Given the description of an element on the screen output the (x, y) to click on. 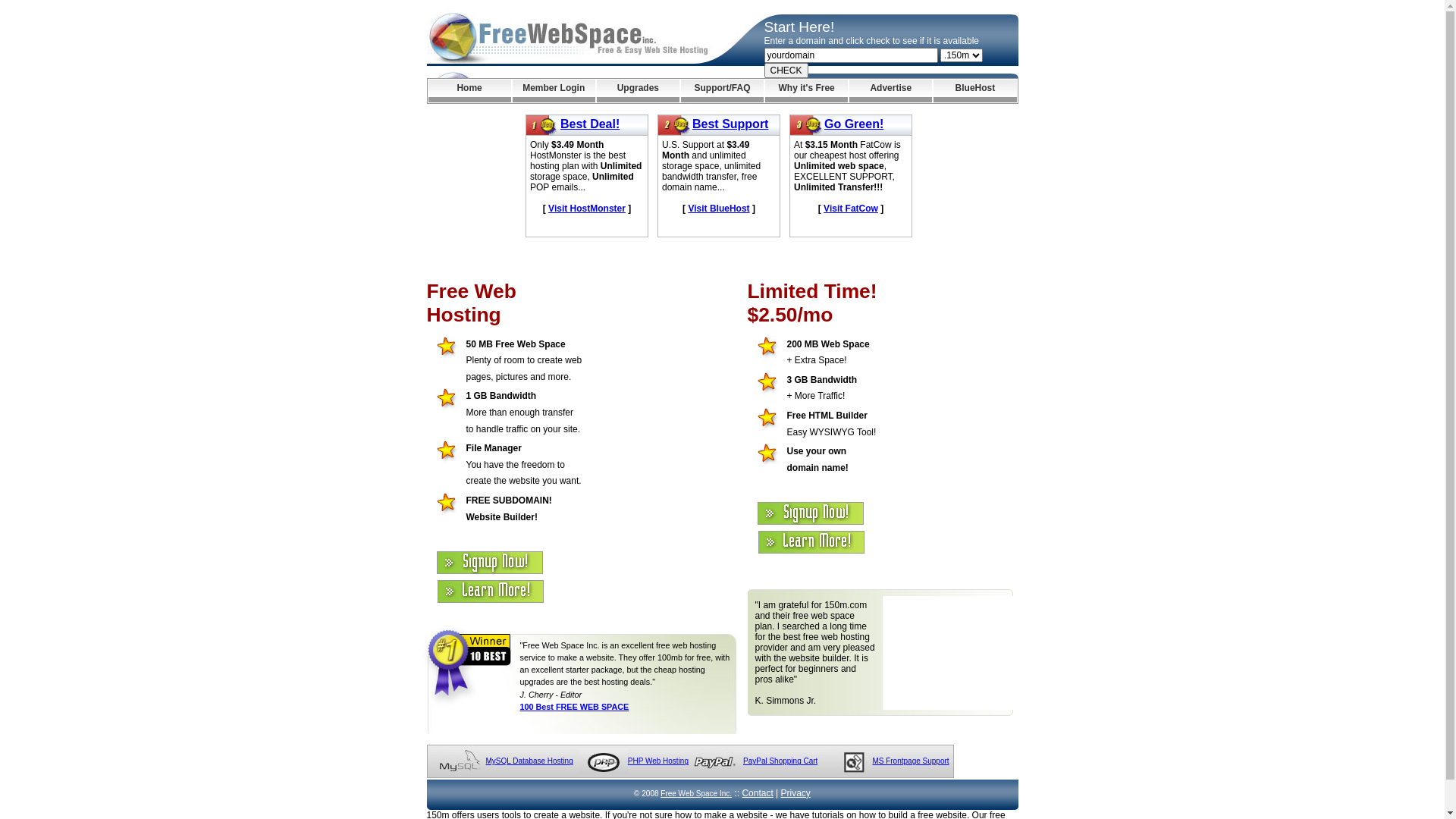
100 Best FREE WEB SPACE Element type: text (574, 706)
Why it's Free Element type: text (806, 90)
Privacy Element type: text (795, 792)
MySQL Database Hosting Element type: text (528, 760)
PHP Web Hosting Element type: text (657, 760)
BlueHost Element type: text (974, 90)
Upgrades Element type: text (637, 90)
CHECK Element type: text (786, 70)
Member Login Element type: text (553, 90)
MS Frontpage Support Element type: text (910, 760)
Free Web Space Inc. Element type: text (695, 793)
Support/FAQ Element type: text (721, 90)
PayPal Shopping Cart Element type: text (780, 760)
Contact Element type: text (756, 792)
Home Element type: text (468, 90)
Advertise Element type: text (890, 90)
